Given the description of an element on the screen output the (x, y) to click on. 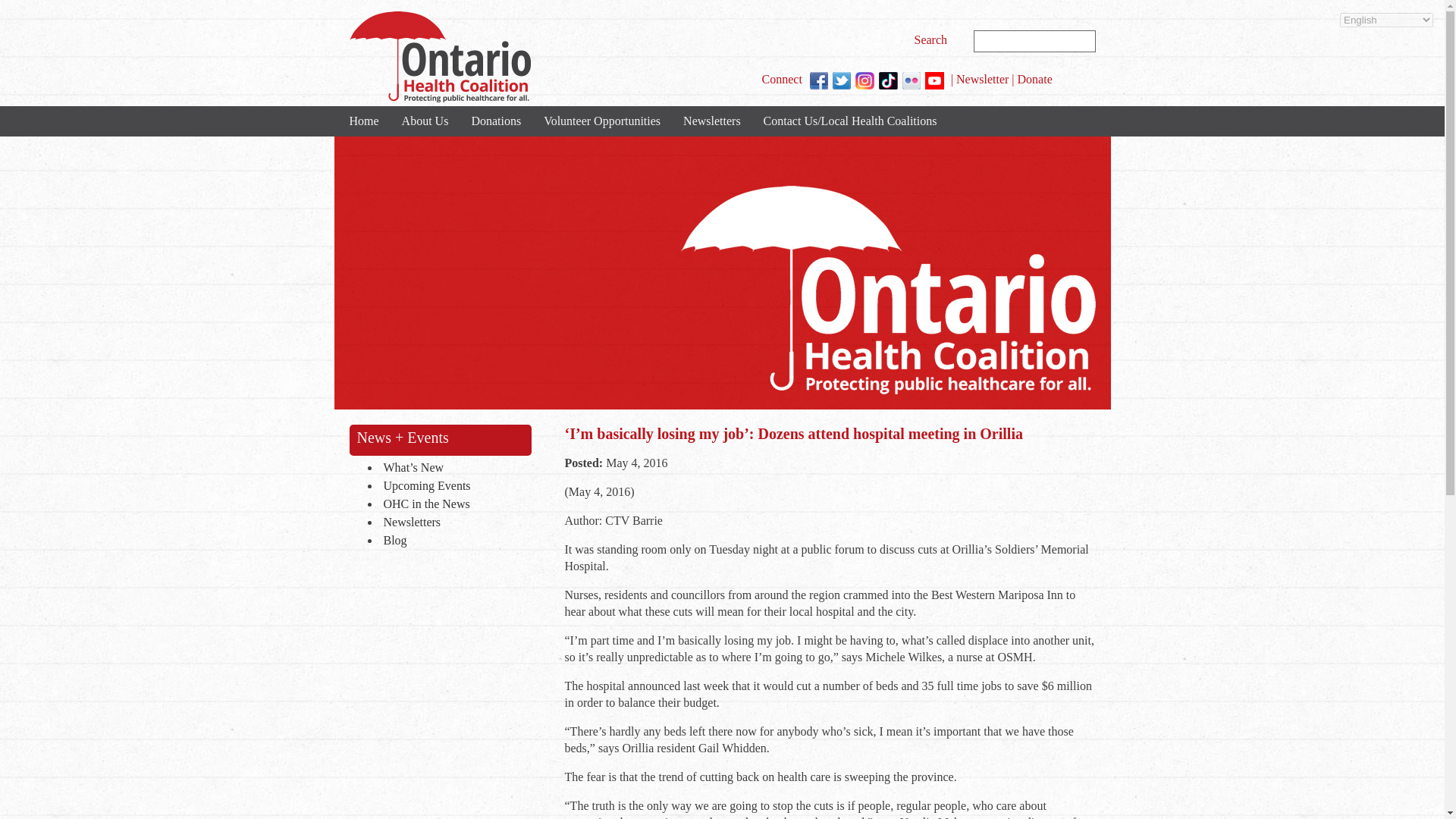
TikTok (888, 80)
Twitter (841, 80)
Upcoming Events (452, 486)
OHC in the News (452, 505)
Donate (1034, 79)
Donations (496, 121)
Flickr (911, 80)
Ontario Health Coalition (439, 56)
About Us (425, 121)
Search (932, 39)
Newsletters (711, 121)
Volunteer Opportunities (601, 121)
Blog (452, 541)
Search (932, 39)
Home (363, 121)
